Given the description of an element on the screen output the (x, y) to click on. 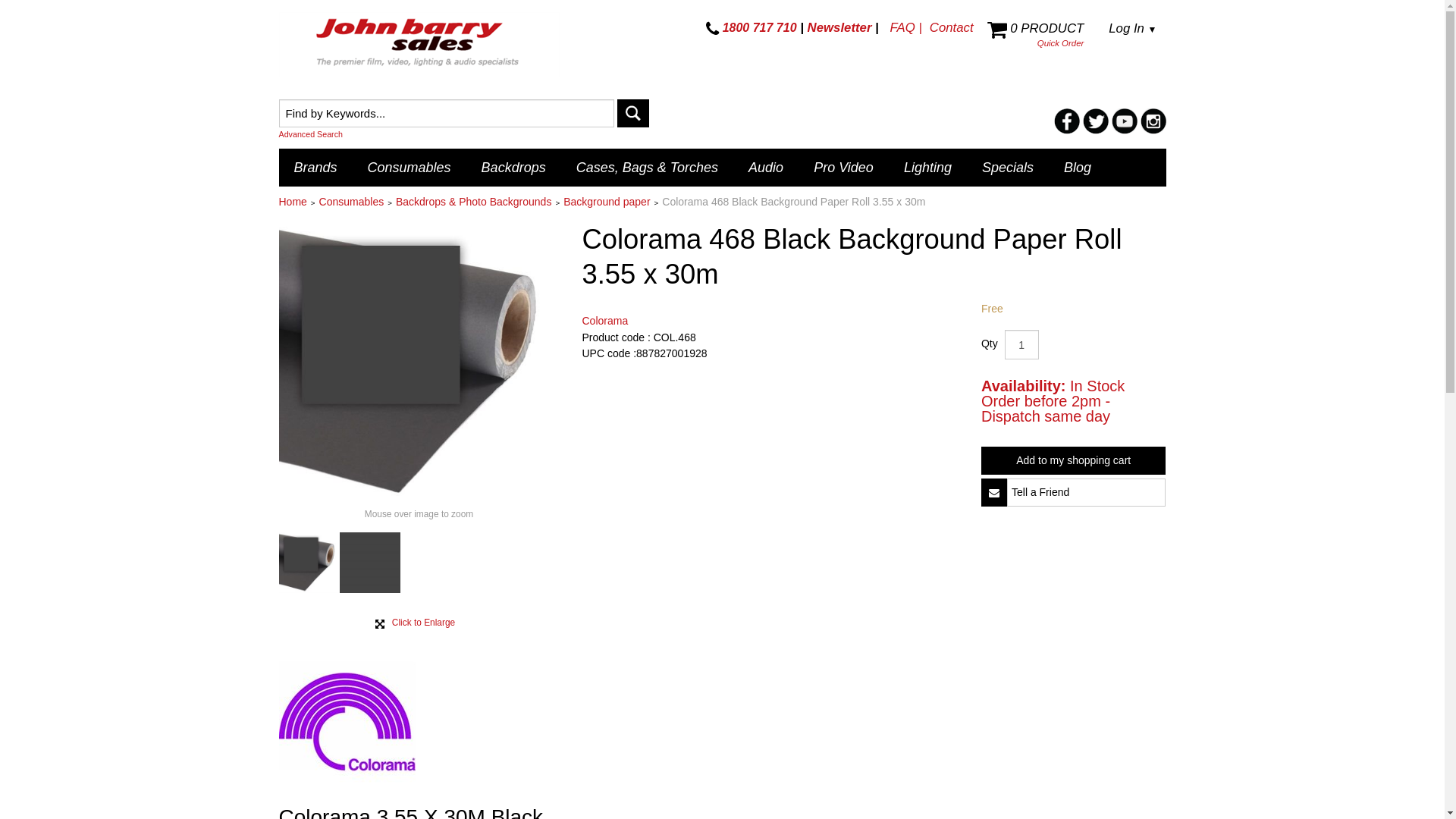
Consumables Element type: text (409, 167)
Cases, Bags & Torches Element type: text (647, 167)
Home Element type: text (293, 201)
Contact Element type: text (951, 27)
Background paper Element type: text (606, 201)
Brands Element type: text (315, 167)
Tell a Friend Element type: hover (994, 492)
Colorama Element type: text (605, 320)
Pro Video Element type: text (843, 167)
Newsletter Element type: text (839, 27)
Lighting Element type: text (927, 167)
Add to my shopping cart Element type: text (1073, 460)
Advanced Search Element type: text (498, 134)
1800 717 710 Element type: text (751, 27)
Backdrops Element type: text (513, 167)
Colorama 468 Black Background Paper Roll 3.55 x 30m Element type: hover (419, 362)
Consumables Element type: text (351, 201)
Quick Order Element type: text (1060, 42)
Backdrops & Photo Backgrounds Element type: text (473, 201)
FAQ | Element type: text (905, 27)
Specials Element type: text (1007, 167)
Blog Element type: text (1077, 167)
John Barry Sales Element type: hover (419, 44)
Audio Element type: text (765, 167)
Click to Enlarge Element type: text (423, 622)
Colorama Element type: hover (347, 716)
